Given the description of an element on the screen output the (x, y) to click on. 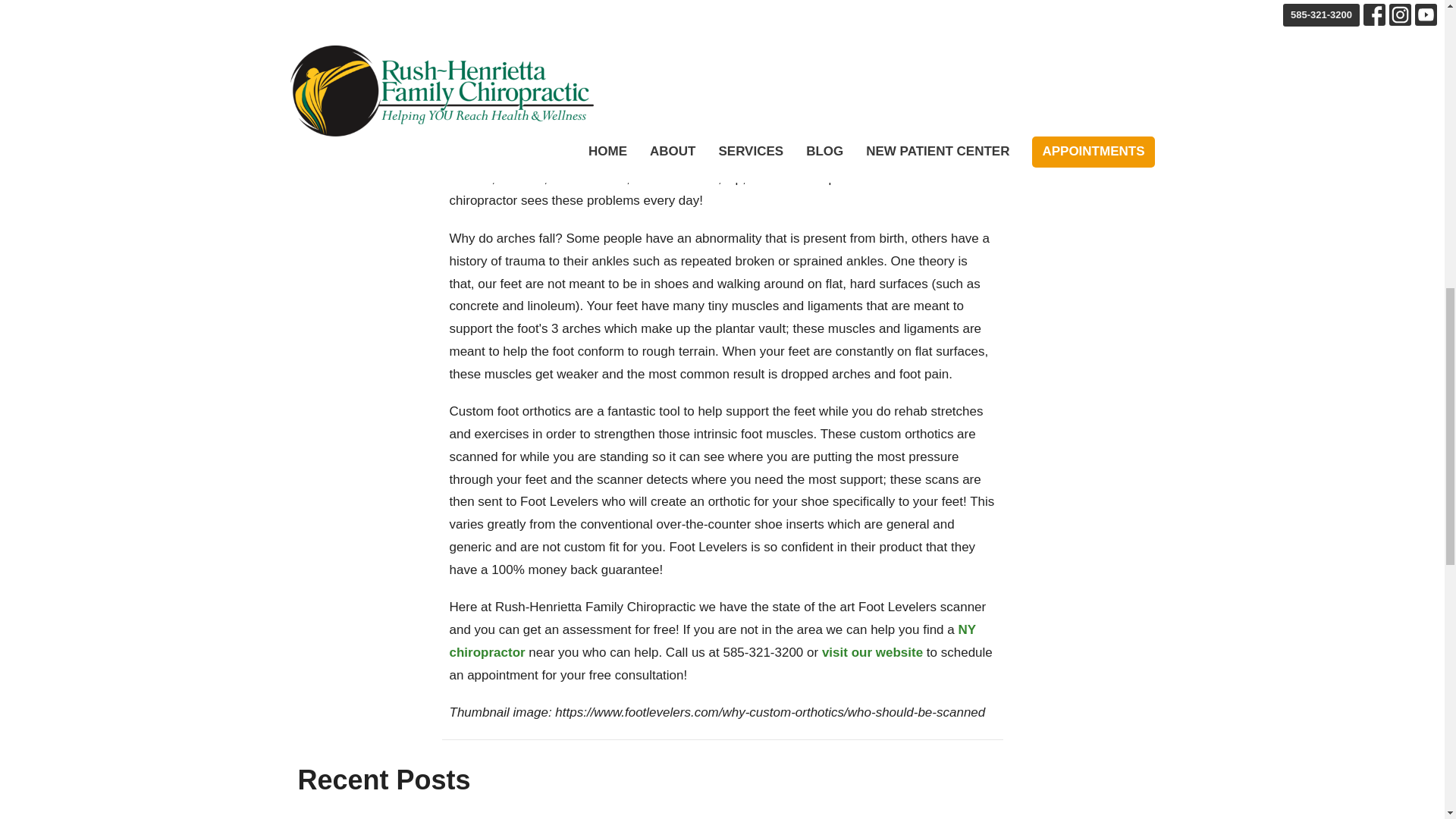
Rochester, NY (601, 133)
visit our website (872, 652)
NY chiropractor (711, 641)
